Given the description of an element on the screen output the (x, y) to click on. 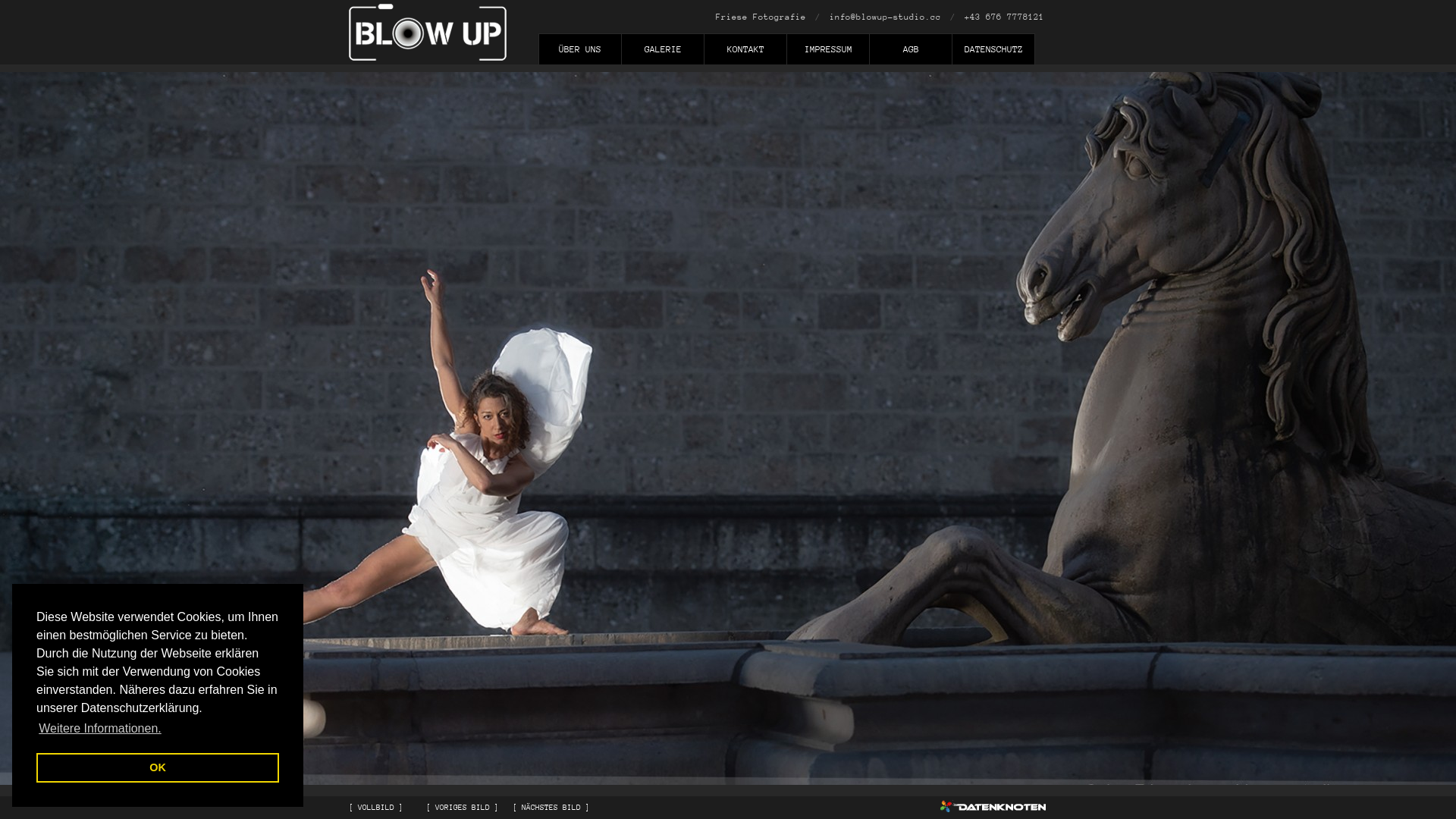
AGB Element type: text (910, 52)
GALERIE Element type: text (662, 52)
DATENSCHUTZ Element type: text (993, 52)
[ VOLLBILD ] Element type: text (375, 807)
IMPRESSUM Element type: text (827, 52)
info@blowup-studio.cc Element type: text (885, 16)
[ VORIGES BILD ] Element type: text (462, 807)
BLOWUP STUDIO by FRIESE Fotografie KG Element type: hover (427, 31)
Weitere Informationen. Element type: text (99, 728)
OK Element type: text (157, 767)
made by DATENKNOTEN Element type: hover (992, 806)
KONTAKT Element type: text (744, 52)
